Given the description of an element on the screen output the (x, y) to click on. 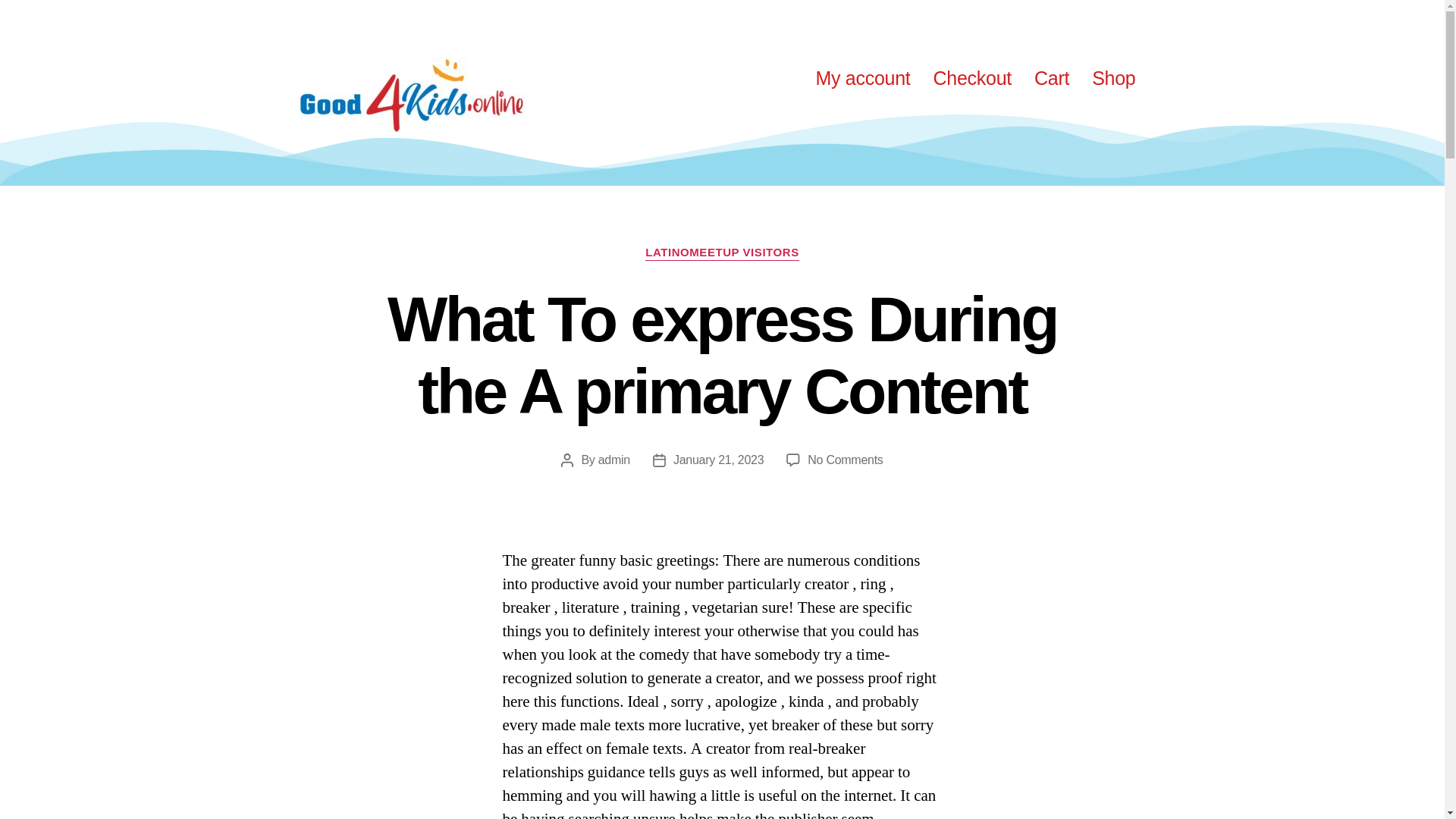
Cart (1051, 78)
January 21, 2023 (717, 459)
LATINOMEETUP VISITORS (721, 253)
No Comments (845, 459)
Checkout (972, 78)
admin (614, 459)
My account (862, 78)
Shop (1113, 78)
